Given the description of an element on the screen output the (x, y) to click on. 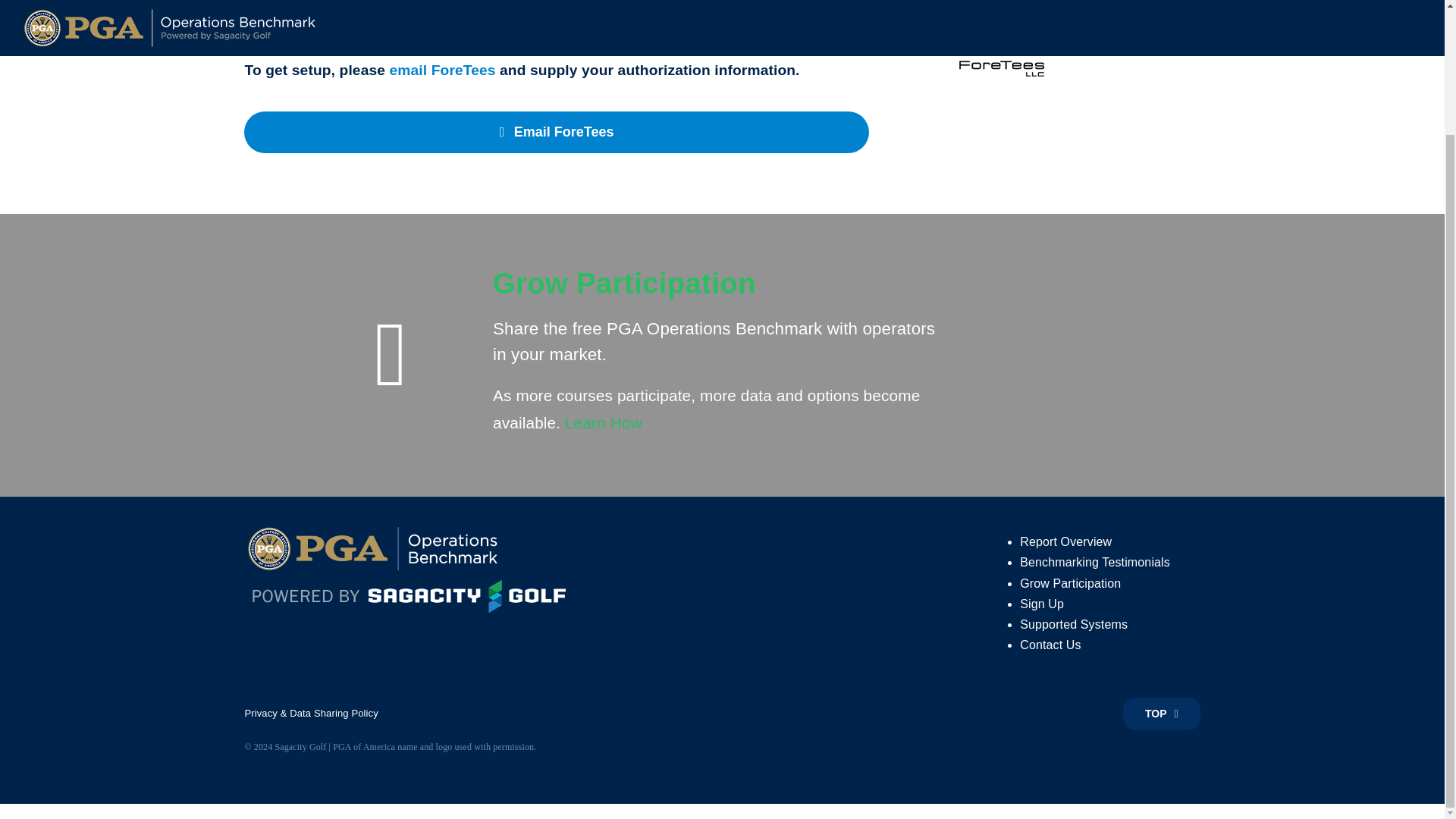
Report Overview (1066, 541)
Benchmarking Testimonials (1095, 562)
email ForeTees (443, 69)
Learn How (603, 422)
Email ForeTees (555, 132)
Supported Systems (1073, 624)
Grow Participation (1070, 582)
PGA Operations Benchmark (414, 548)
Contact Us (1050, 644)
Sign Up (1042, 603)
ForeTees (1001, 47)
TOP (1160, 713)
